Given the description of an element on the screen output the (x, y) to click on. 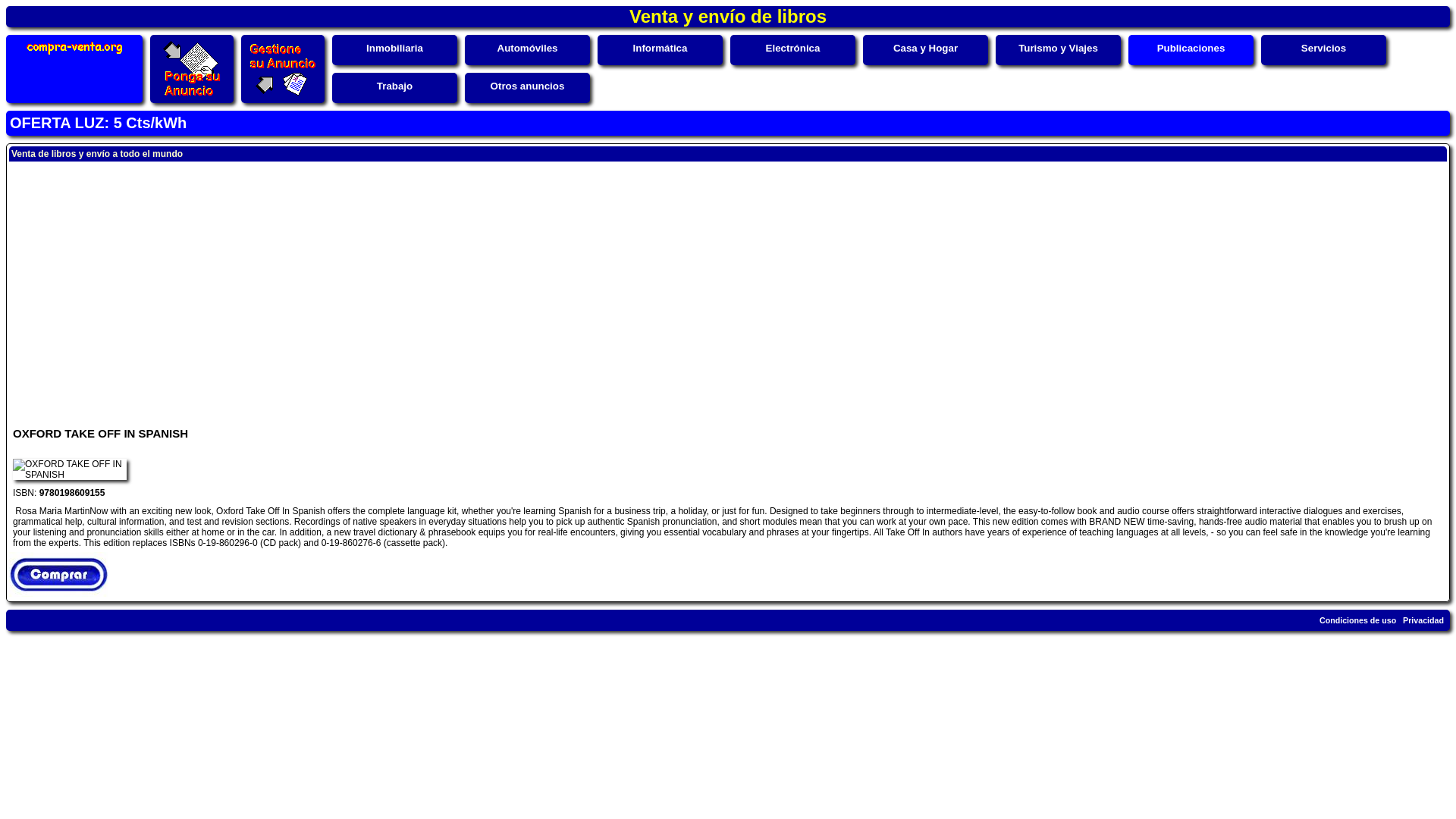
Anuncios de casa y hogar (925, 48)
Anuncios de servicios (1323, 48)
Servicios (1323, 48)
Inmobiliaria (394, 48)
compra-venta (74, 53)
Anuncios de publicaciones (1191, 48)
Otros anuncios (527, 85)
Gestionar anuncios (282, 68)
Otros anuncios (527, 85)
Anuncios de turismo y viajes (1057, 48)
Comprar libros (57, 593)
Anunciar (191, 68)
Anuncios de inmobiliaria (394, 48)
OXFORD TAKE OFF IN SPANISH (69, 468)
Publicaciones (1191, 48)
